Given the description of an element on the screen output the (x, y) to click on. 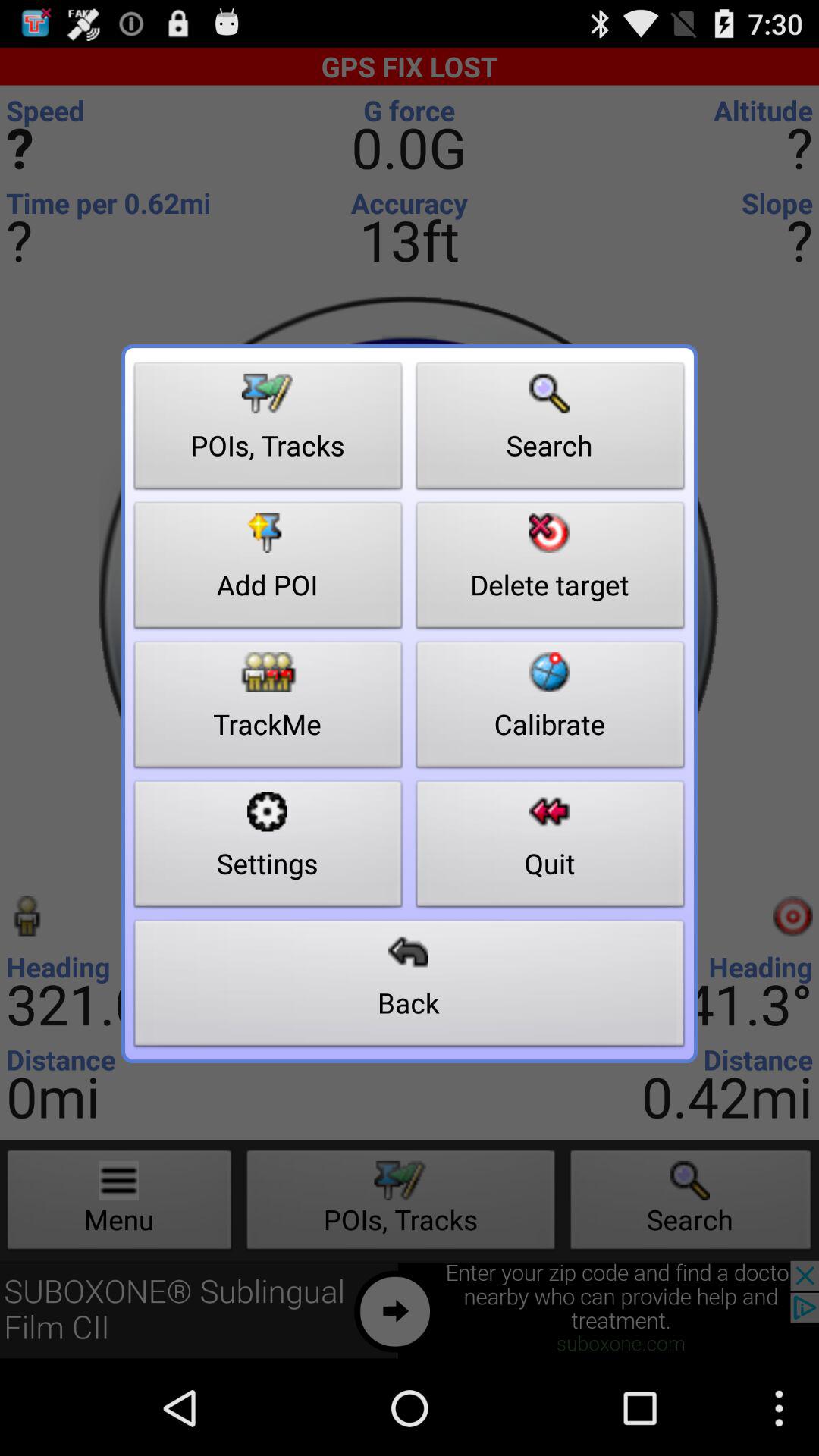
launch icon to the right of add poi button (550, 708)
